Given the description of an element on the screen output the (x, y) to click on. 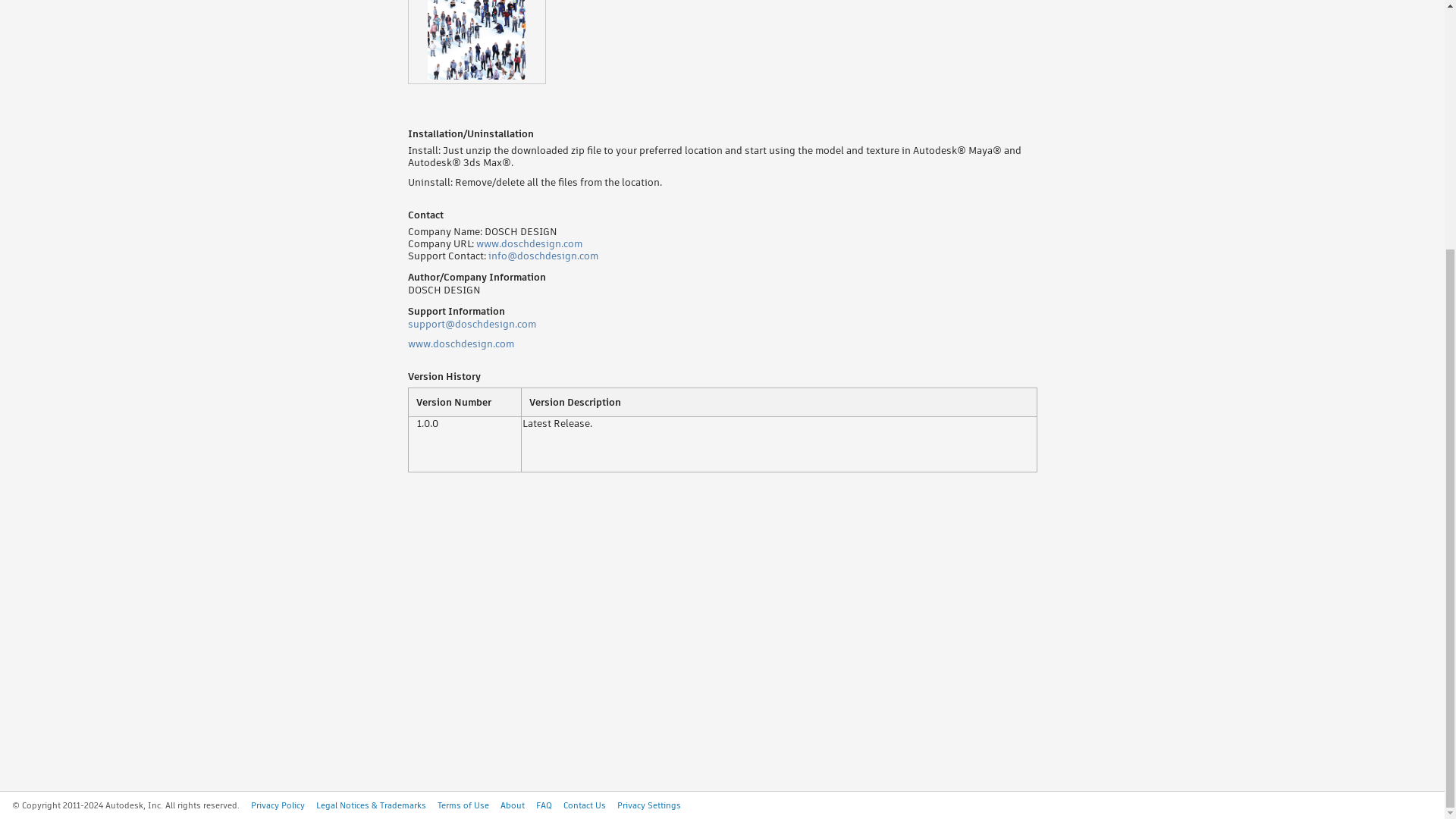
www.doschdesign.com (460, 343)
Privacy Policy (277, 805)
www.doschdesign.com (529, 243)
Privacy Settings (649, 805)
FAQ (543, 805)
Contact Us (584, 805)
Terms of Use (463, 805)
